Given the description of an element on the screen output the (x, y) to click on. 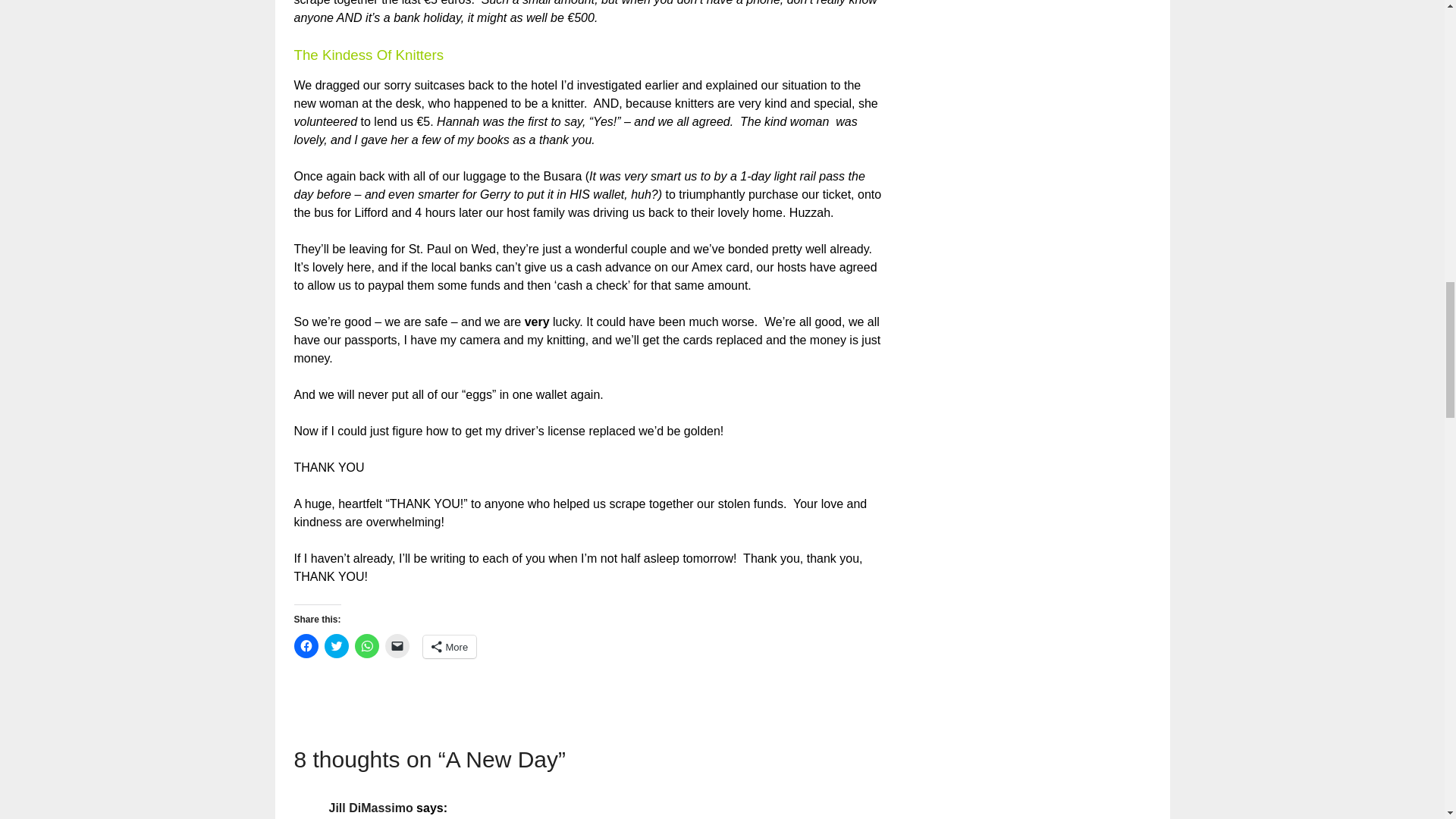
Click to share on Twitter (336, 645)
Click to share on Facebook (306, 645)
Click to share on WhatsApp (366, 645)
More (450, 646)
Jill DiMassimo (371, 807)
Click to email a link to a friend (397, 645)
